Given the description of an element on the screen output the (x, y) to click on. 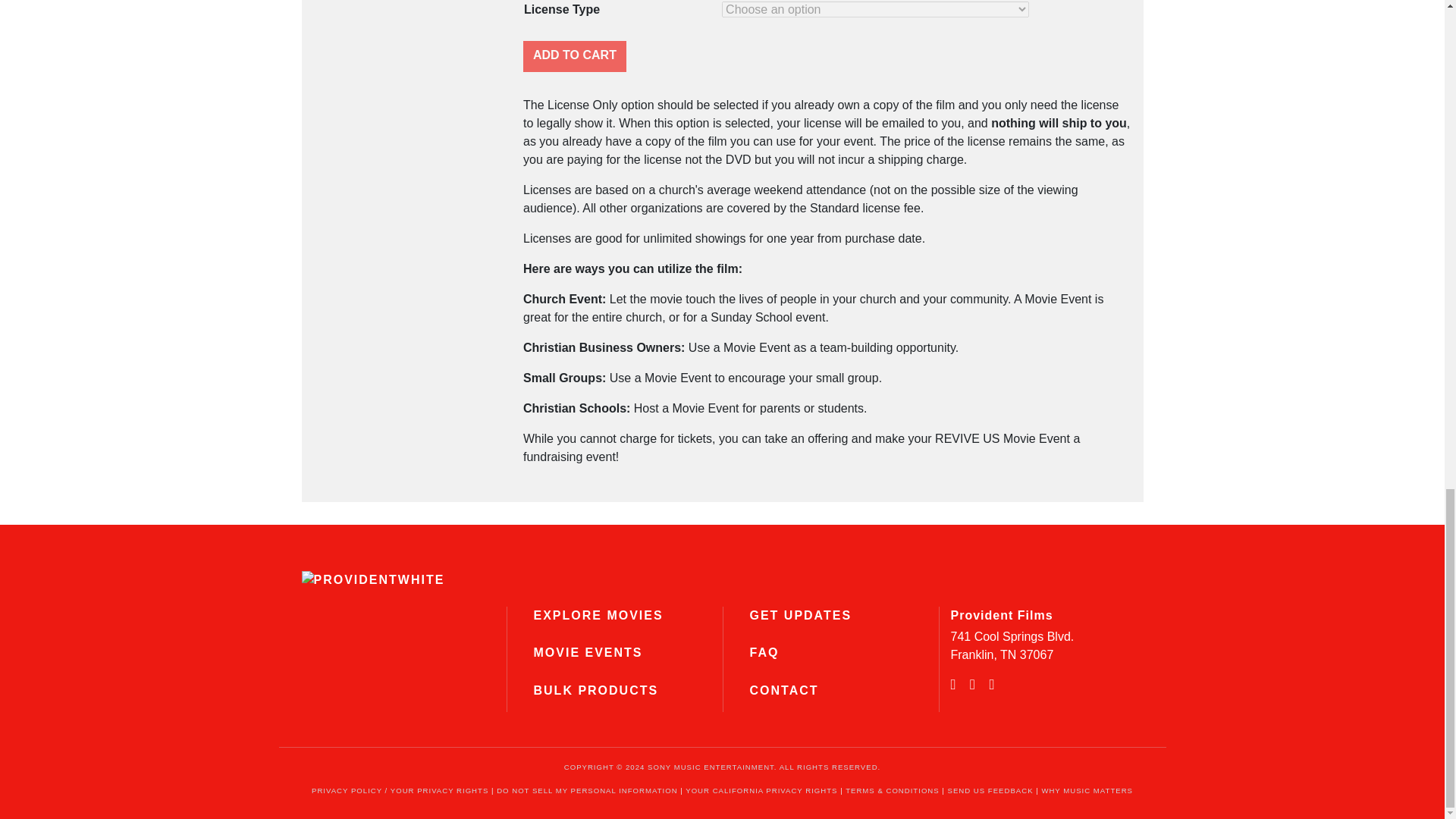
ADD TO CART (574, 56)
FAQ (763, 652)
DO NOT SELL MY PERSONAL INFORMATION (587, 790)
MOVIE EVENTS (588, 652)
YOUR CALIFORNIA PRIVACY RIGHTS (762, 790)
BULK PRODUCTS (596, 689)
SEND US FEEDBACK (991, 790)
EXPLORE MOVIES (598, 615)
CONTACT (783, 689)
WHY MUSIC MATTERS (1086, 790)
